Given the description of an element on the screen output the (x, y) to click on. 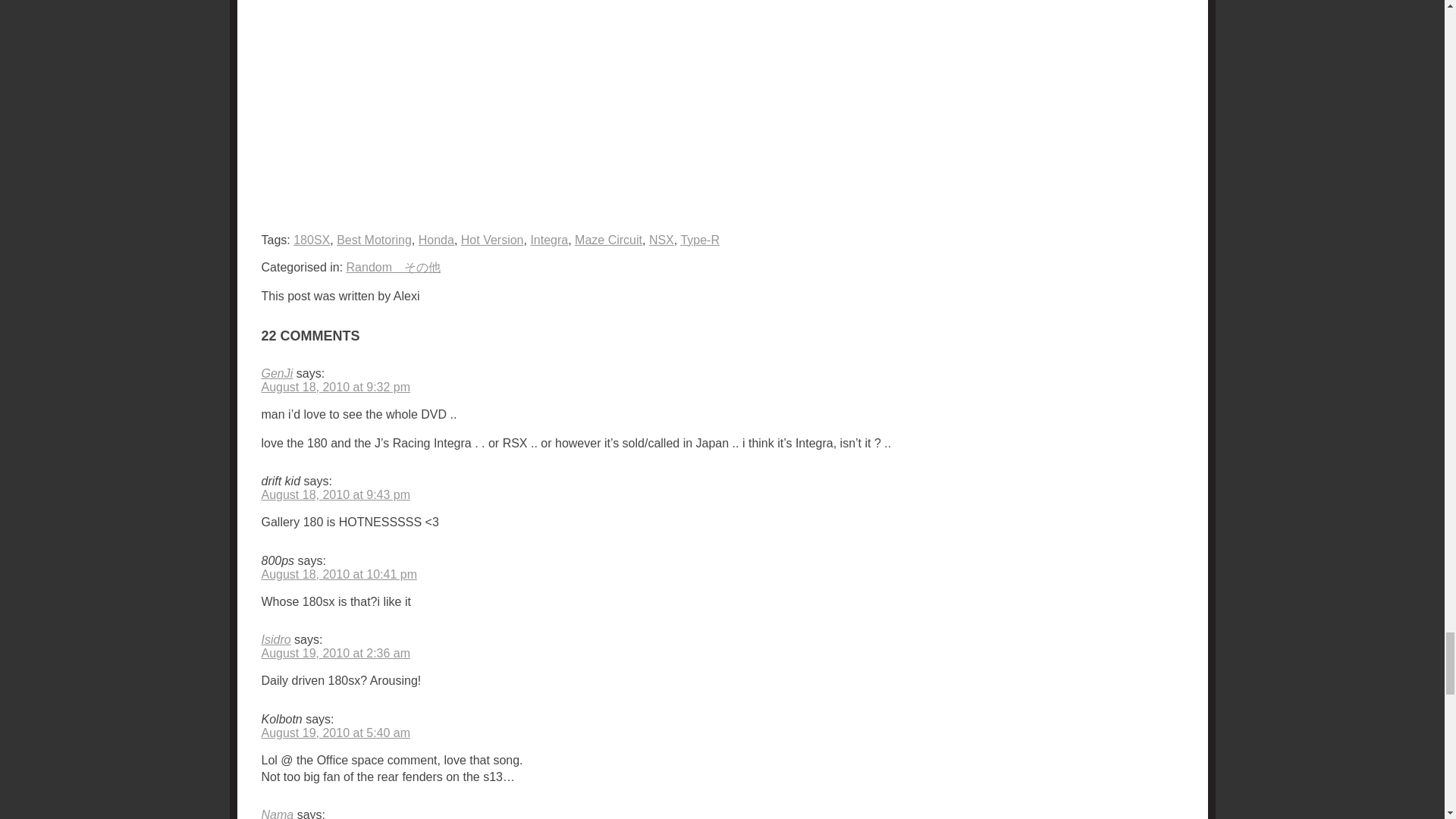
180SX (312, 239)
August 18, 2010 at 10:41 pm (338, 574)
Hot Version (492, 239)
Best Motoring (374, 239)
Honda (436, 239)
Type-R (699, 239)
NSX (661, 239)
Isidro (274, 639)
August 19, 2010 at 5:40 am (335, 732)
Maze Circuit (608, 239)
